Given the description of an element on the screen output the (x, y) to click on. 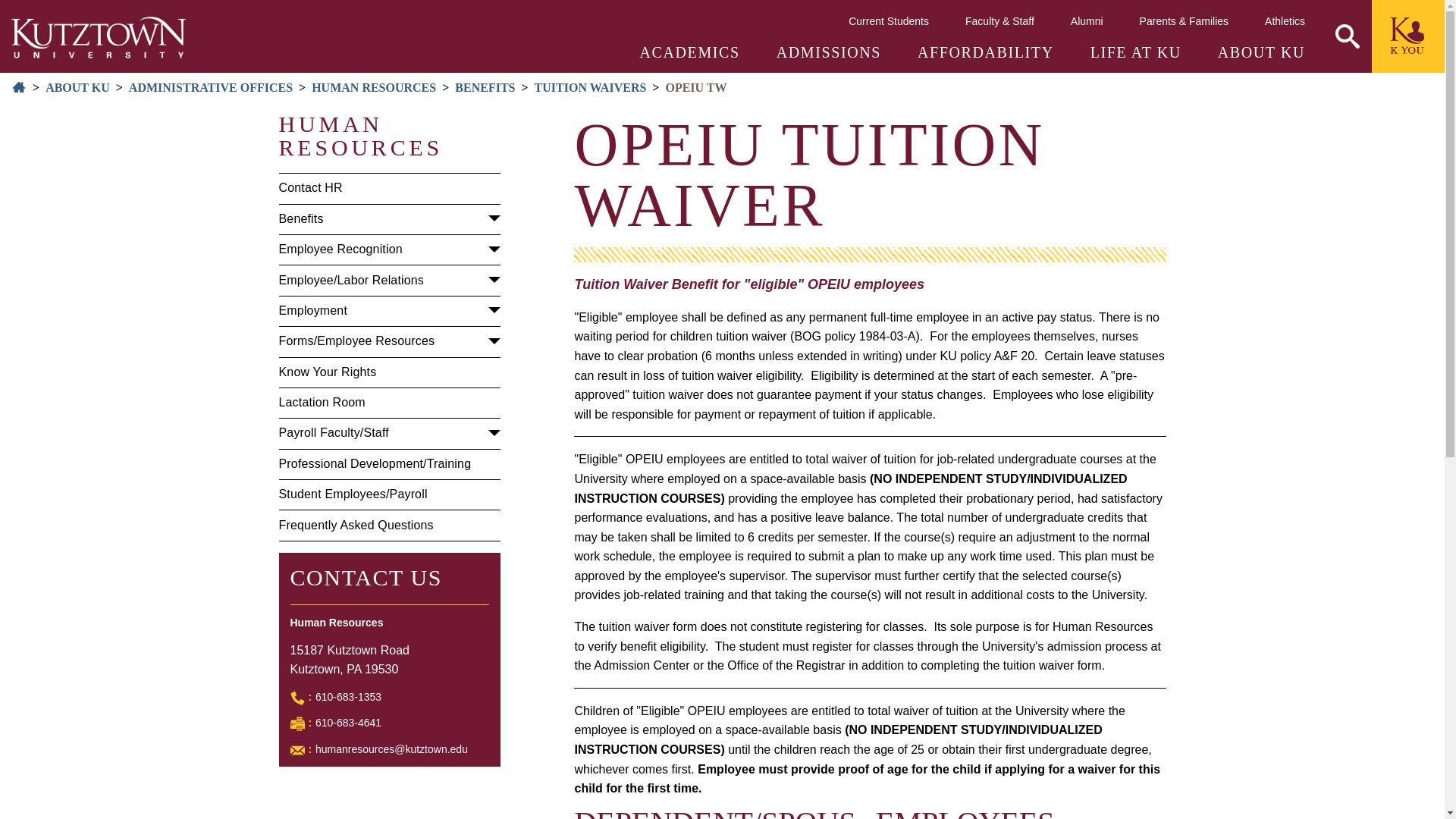
Home (98, 37)
Current Students (888, 20)
ADMISSIONS (828, 51)
AFFORDABILITY (985, 51)
Athletics (1284, 20)
ABOUT KU (1260, 51)
Current Students (888, 20)
LIFE AT KU (1135, 51)
ACADEMICS (689, 51)
Athletics (1284, 20)
